Given the description of an element on the screen output the (x, y) to click on. 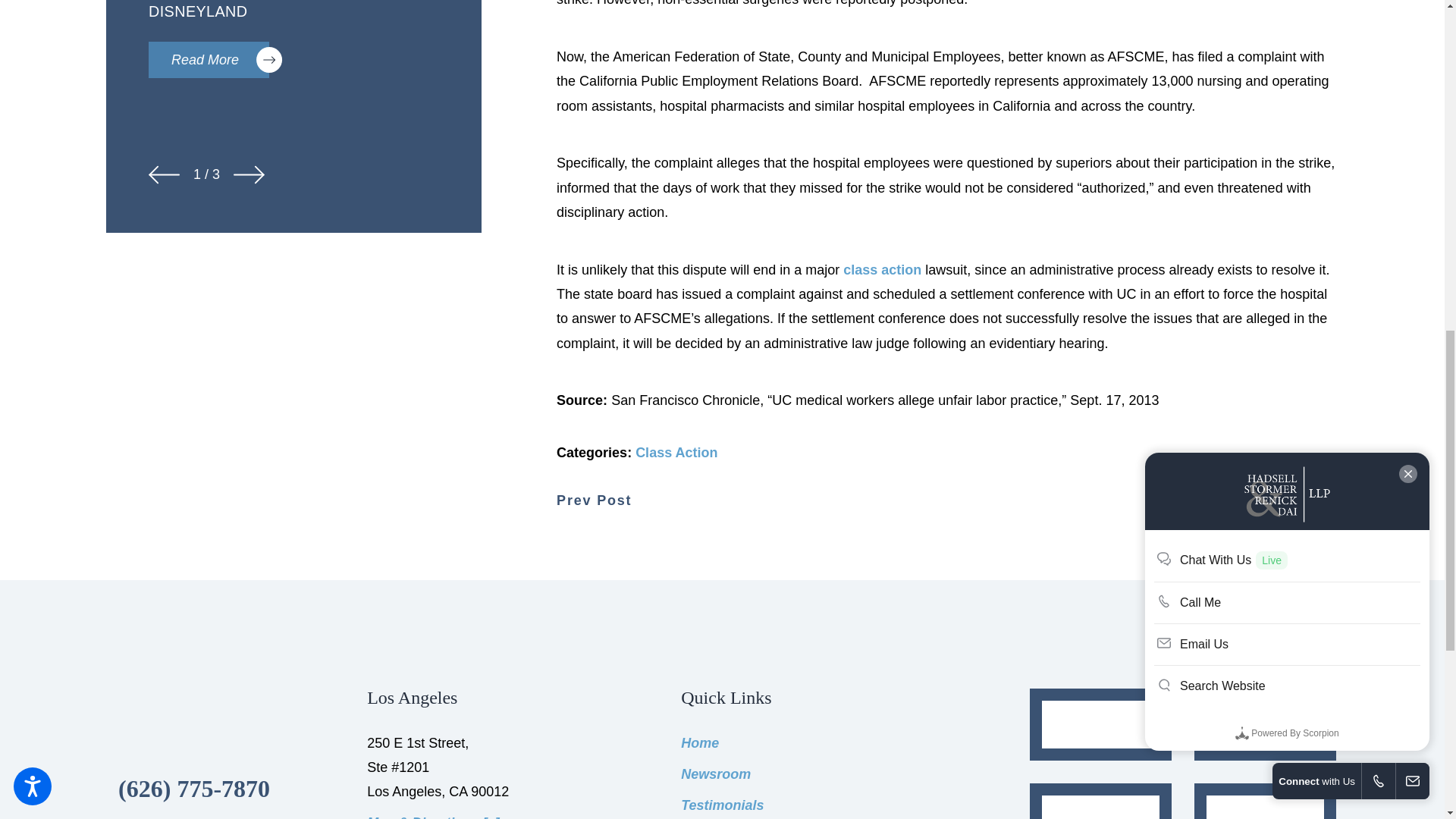
View next item (248, 174)
View previous item (163, 174)
